Given the description of an element on the screen output the (x, y) to click on. 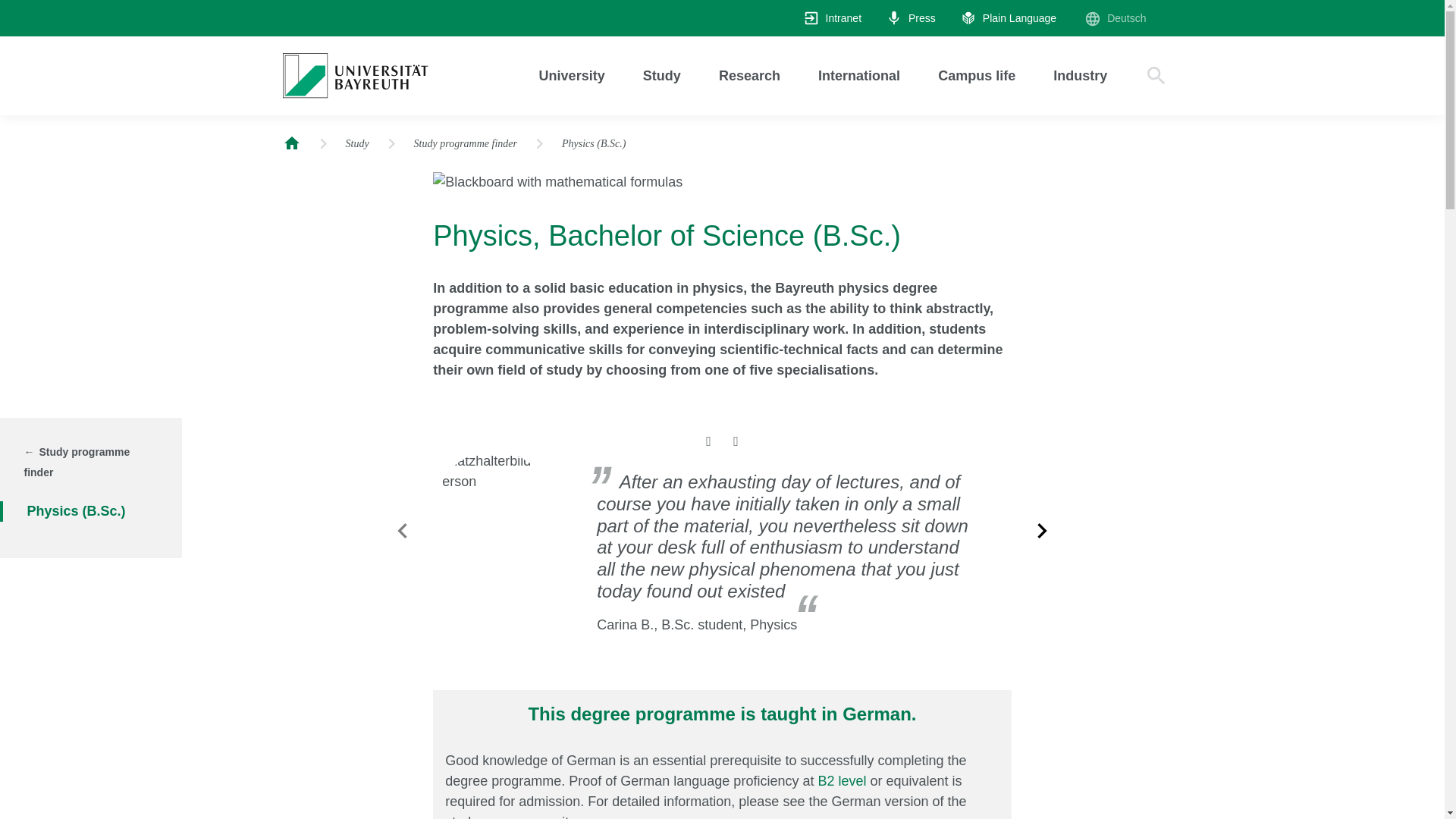
Study (357, 143)
Open menu (749, 75)
Study programme finder (78, 462)
Plain Language (1007, 18)
Previous Slide (402, 530)
2 (735, 441)
Open menu (976, 75)
Research (749, 75)
Next slide (1041, 530)
open Search (1155, 75)
